Given the description of an element on the screen output the (x, y) to click on. 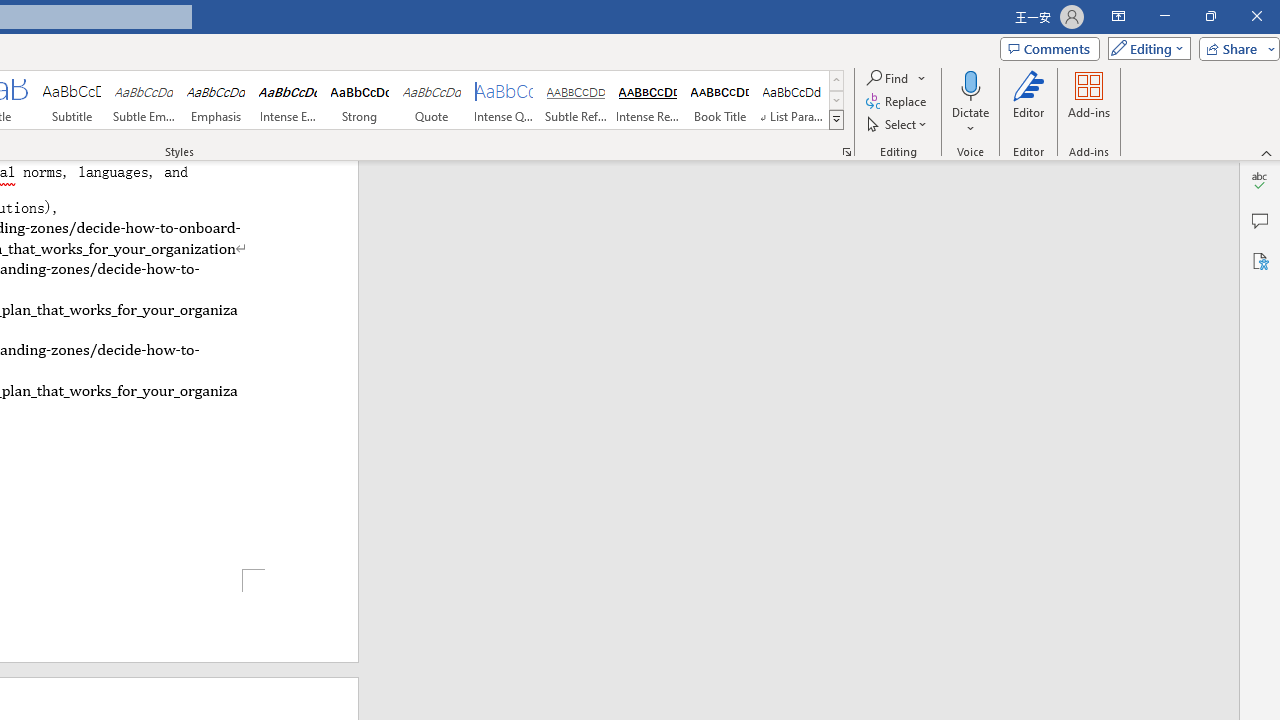
Subtle Emphasis (143, 100)
Book Title (719, 100)
Intense Reference (647, 100)
Intense Quote (504, 100)
